Given the description of an element on the screen output the (x, y) to click on. 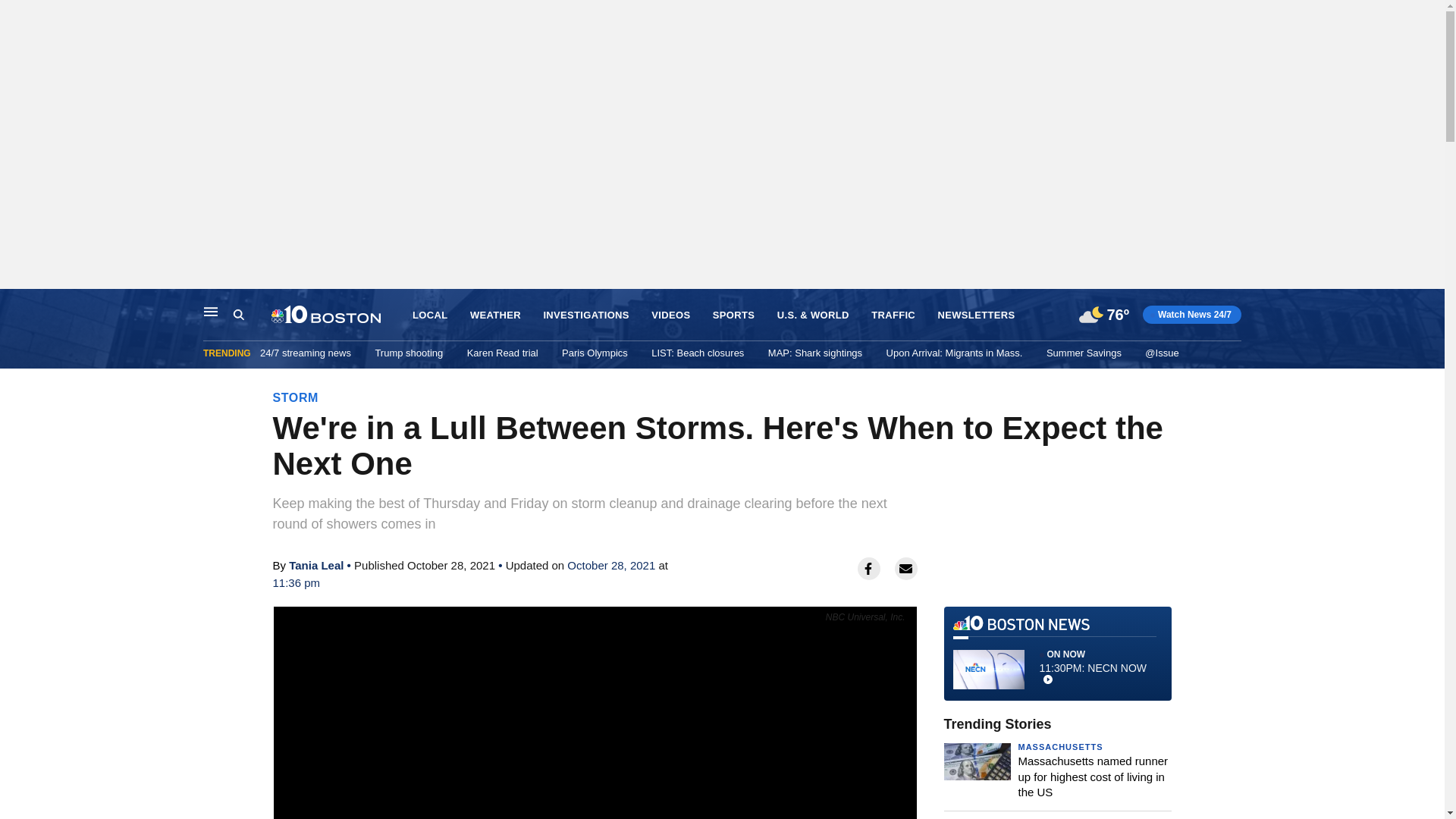
Skip to content (16, 304)
LOCAL (429, 315)
Search (238, 314)
LIST: Beach closures (697, 352)
VIDEOS (670, 315)
INVESTIGATIONS (585, 315)
Upon Arrival: Migrants in Mass. (954, 352)
Tania Leal (315, 564)
MAP: Shark sightings (814, 352)
WEATHER (495, 315)
Summer Savings (1083, 352)
Main Navigation (210, 311)
Search (252, 314)
Paris Olympics (594, 352)
